Given the description of an element on the screen output the (x, y) to click on. 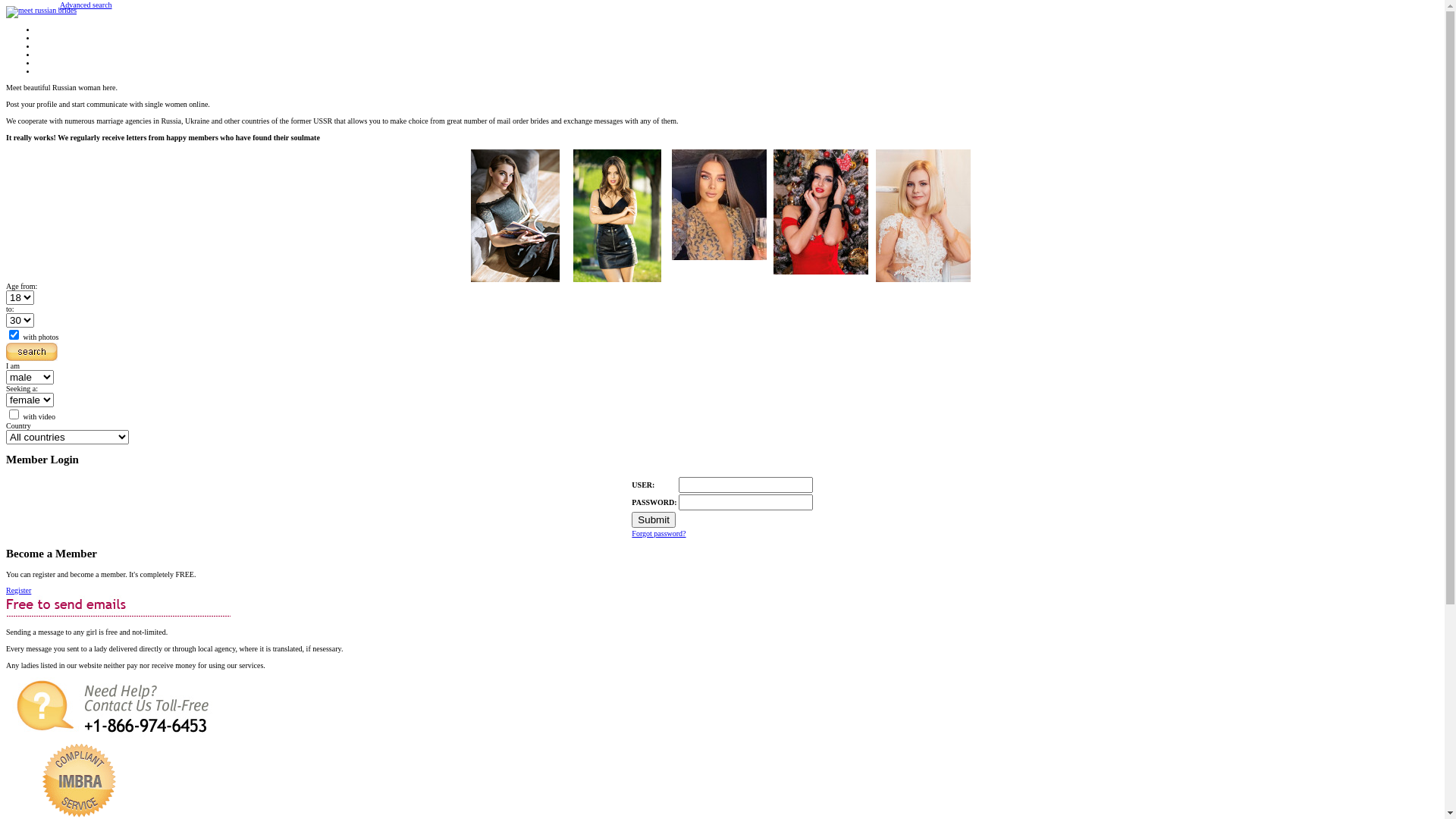
Forgot password? Element type: text (658, 533)
Register Element type: text (18, 590)
Advanced search Element type: text (85, 4)
Submit Element type: text (652, 519)
